Given the description of an element on the screen output the (x, y) to click on. 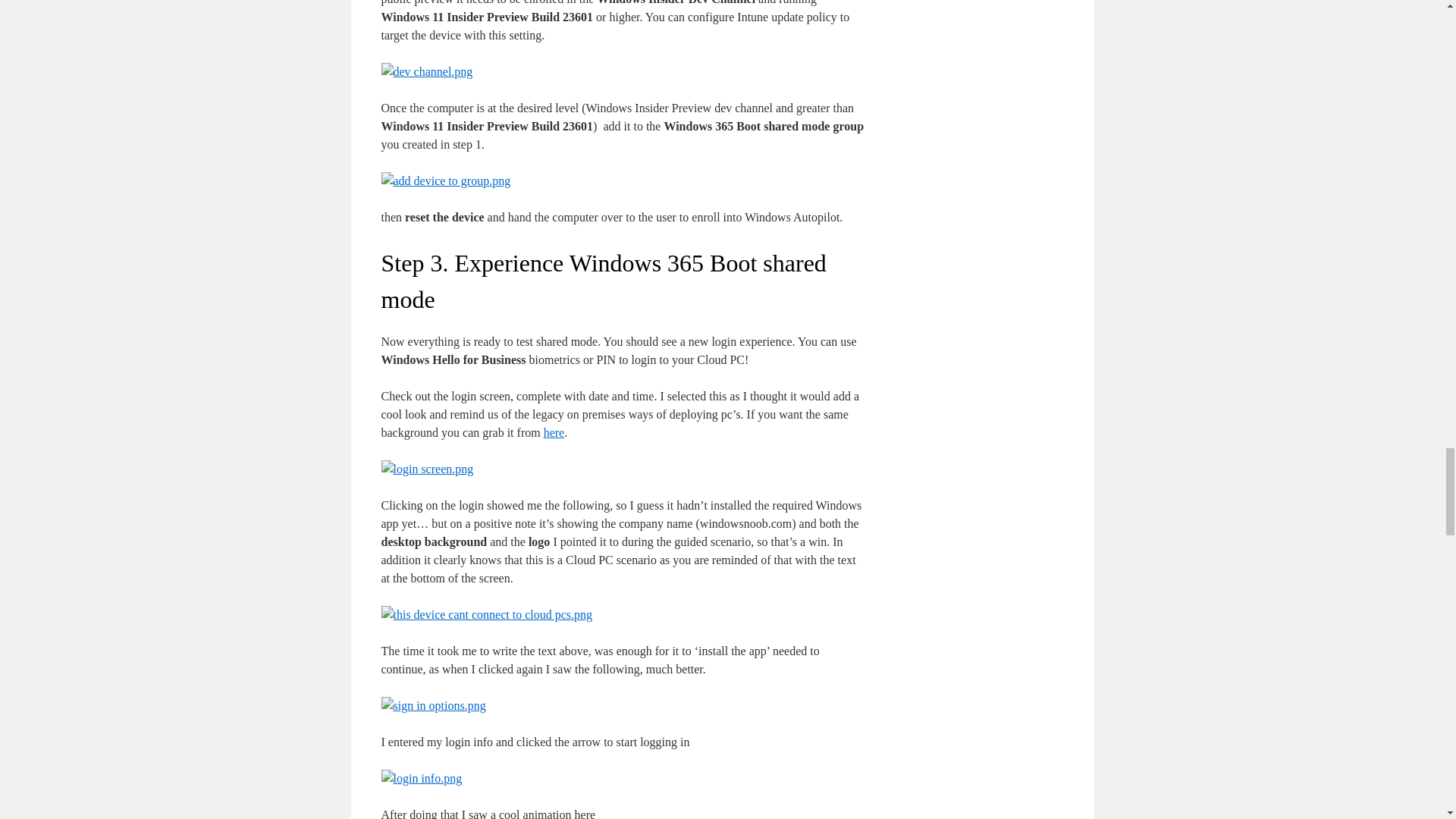
Enlarge image (425, 71)
here (553, 431)
Fetching info... (553, 431)
